Given the description of an element on the screen output the (x, y) to click on. 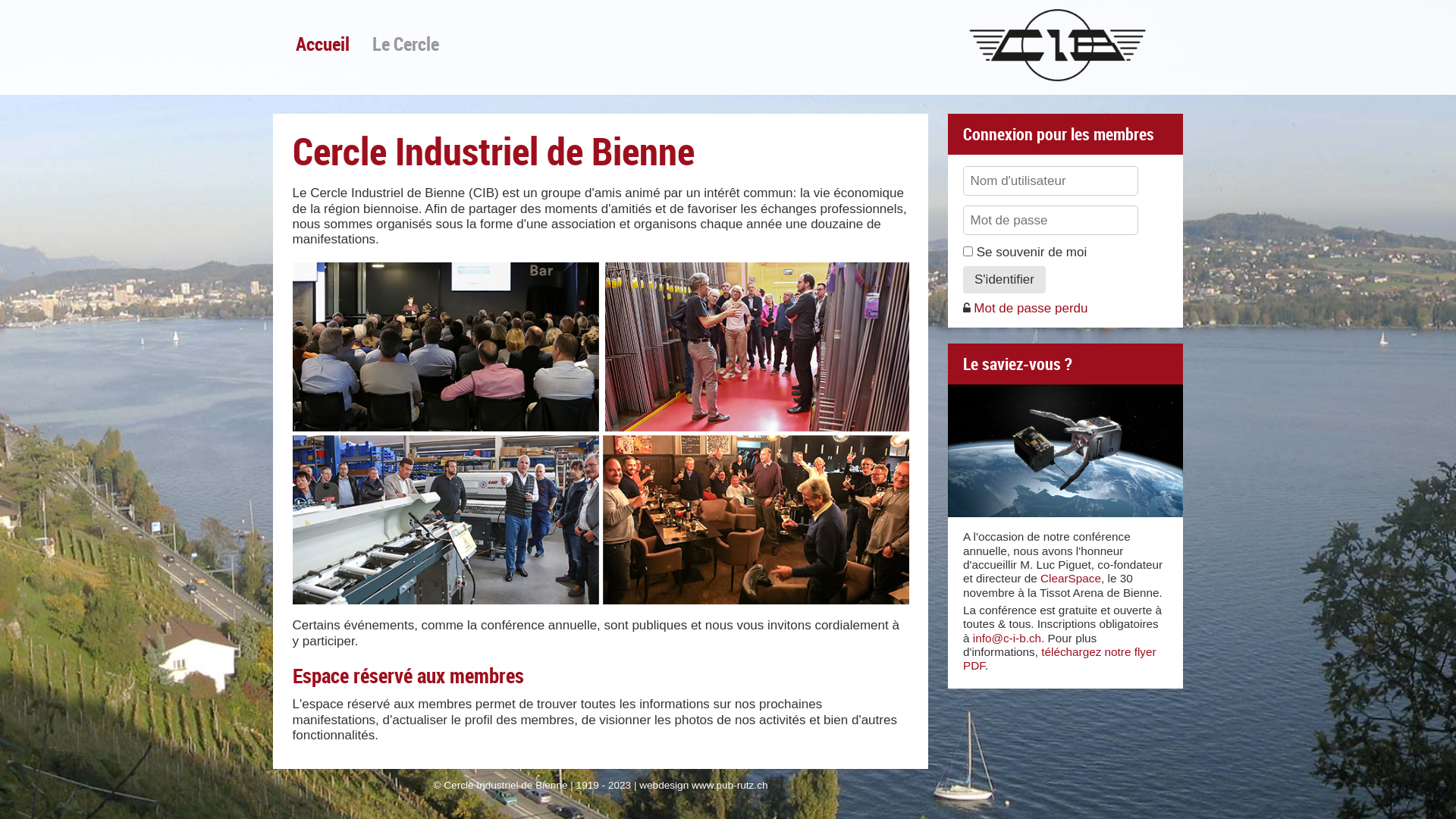
Mot de passe perdu Element type: text (1025, 308)
info@c-i-b.ch Element type: text (1006, 637)
www.pub-rutz.ch Element type: text (729, 784)
S'identifier Element type: text (1004, 279)
Mot de passe perdu Element type: hover (966, 307)
Accueil Element type: text (322, 43)
ClearSpace Element type: text (1070, 577)
Le Cercle Element type: text (405, 43)
